Given the description of an element on the screen output the (x, y) to click on. 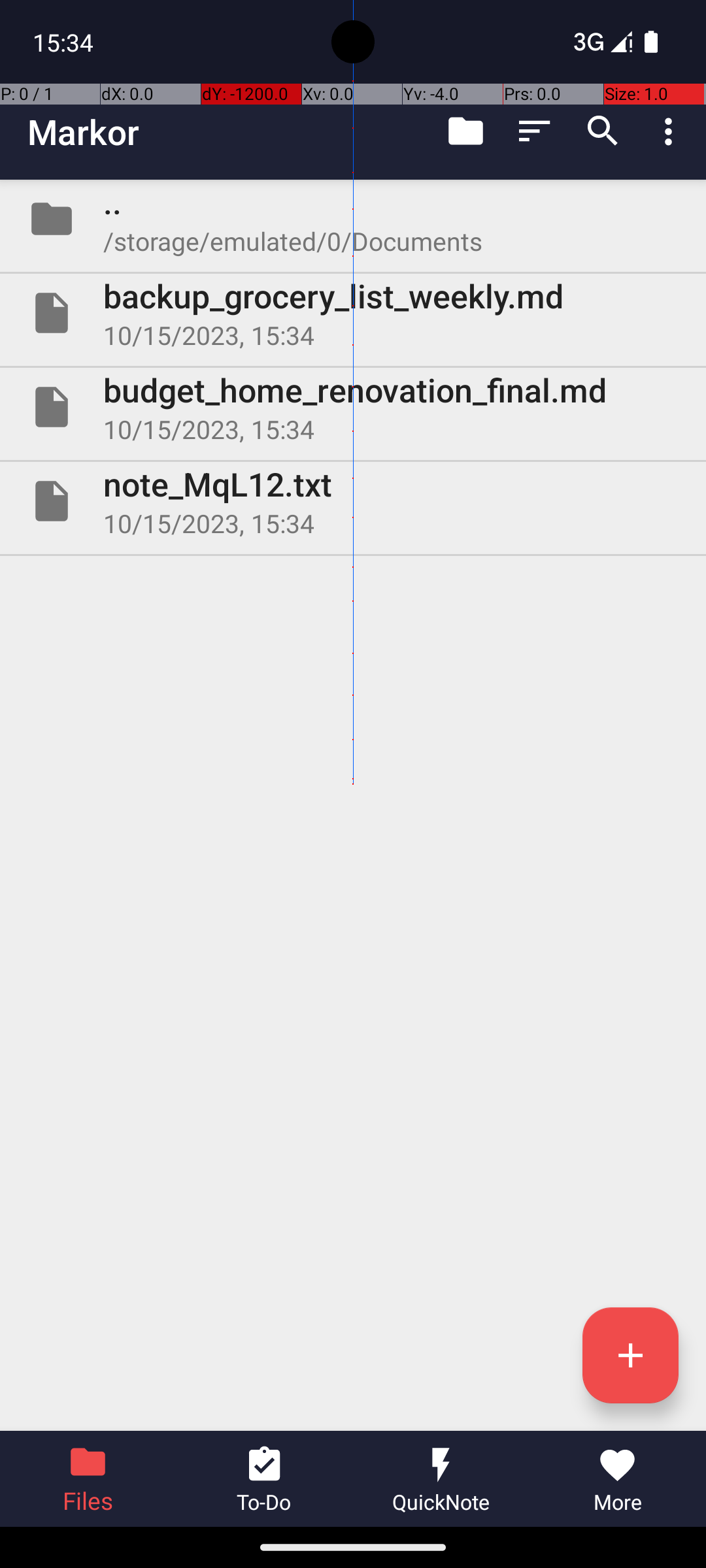
File backup_grocery_list_weekly.md  Element type: android.widget.LinearLayout (353, 312)
File budget_home_renovation_final.md  Element type: android.widget.LinearLayout (353, 406)
File note_MqL12.txt  Element type: android.widget.LinearLayout (353, 500)
